Given the description of an element on the screen output the (x, y) to click on. 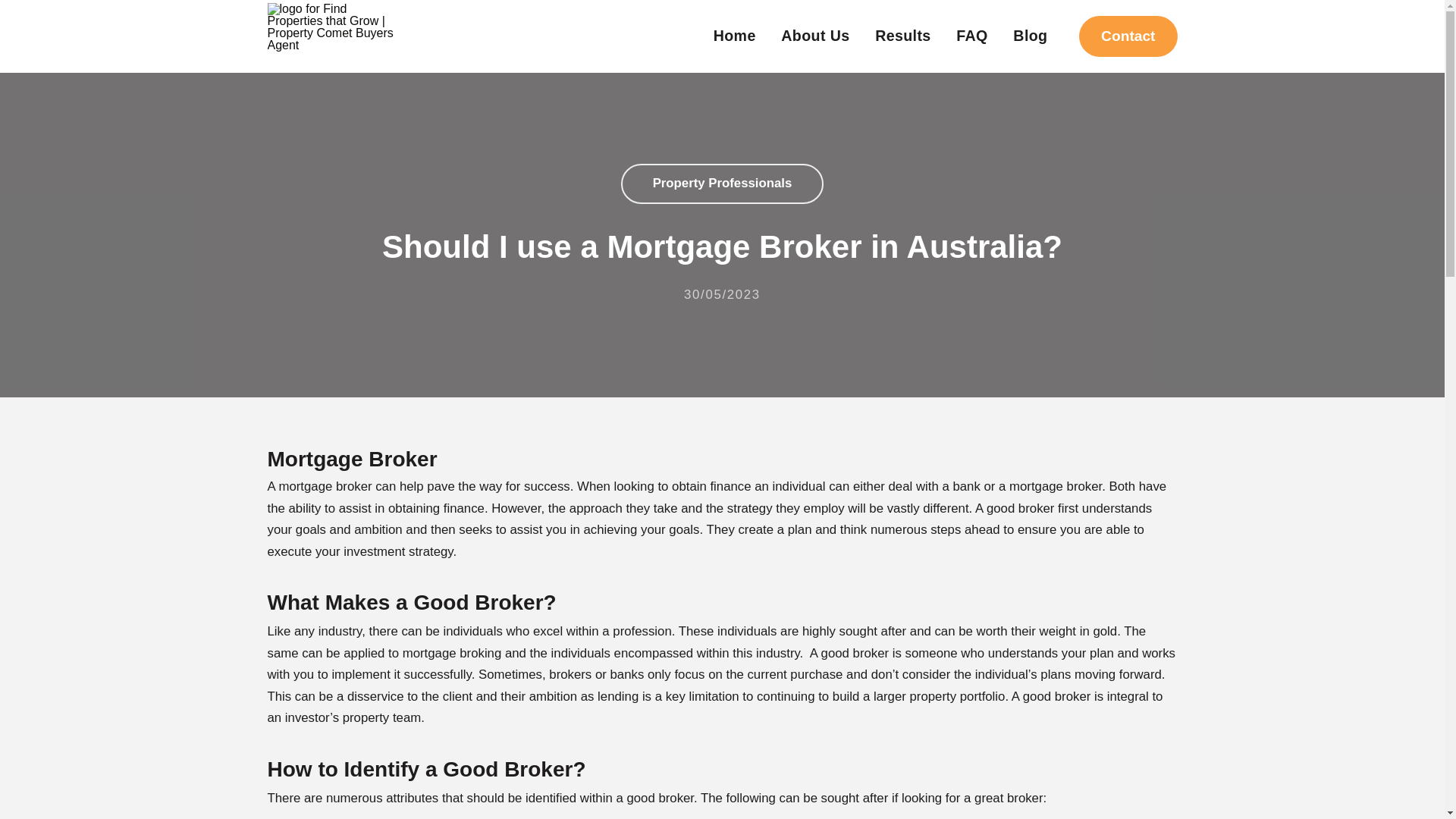
Property Professionals (722, 183)
Results (902, 36)
Contact (1127, 36)
About Us (814, 36)
Home (734, 36)
